Given the description of an element on the screen output the (x, y) to click on. 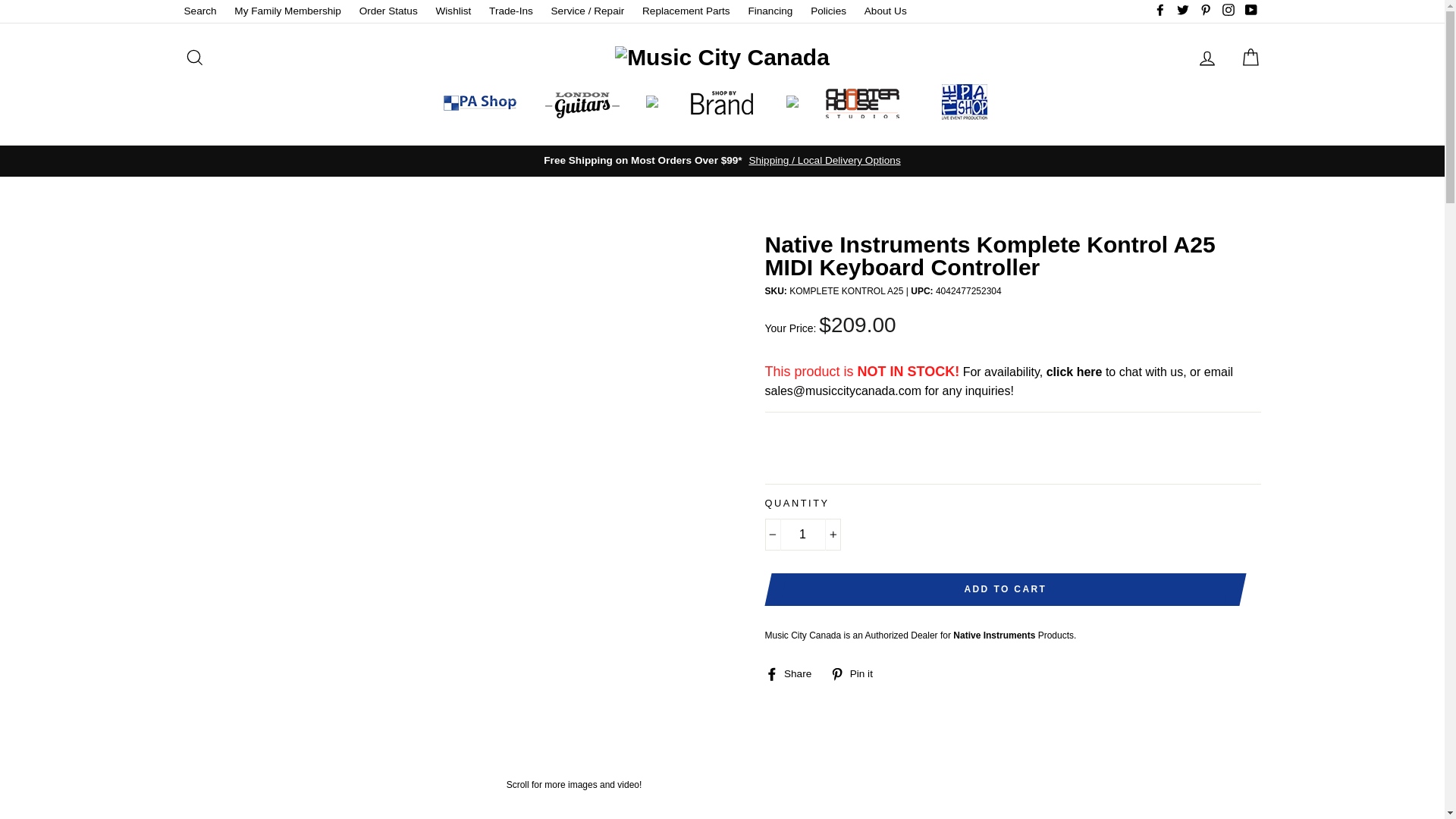
Music City Canada on Twitter (1182, 11)
Native Instruments (994, 634)
Music City Canada on Instagram (1228, 11)
Music City Canada on Pinterest (1205, 11)
Pin on Pinterest (856, 673)
Music City Canada on YouTube (1250, 11)
Share on Facebook (793, 673)
Music City Canada on Facebook (1160, 11)
1 (802, 534)
